Given the description of an element on the screen output the (x, y) to click on. 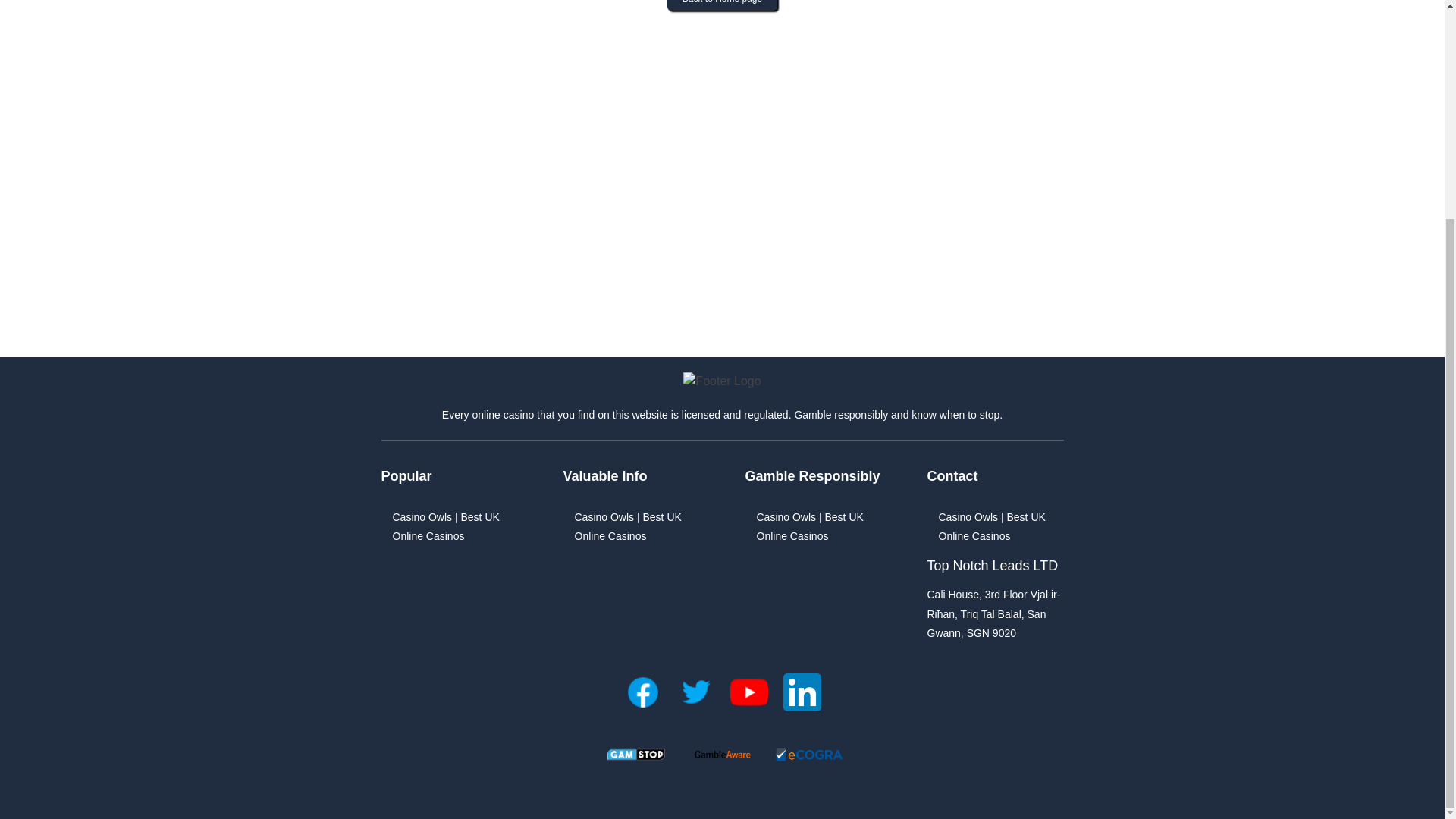
Back to Home page (721, 5)
Back to Home page (721, 24)
